Given the description of an element on the screen output the (x, y) to click on. 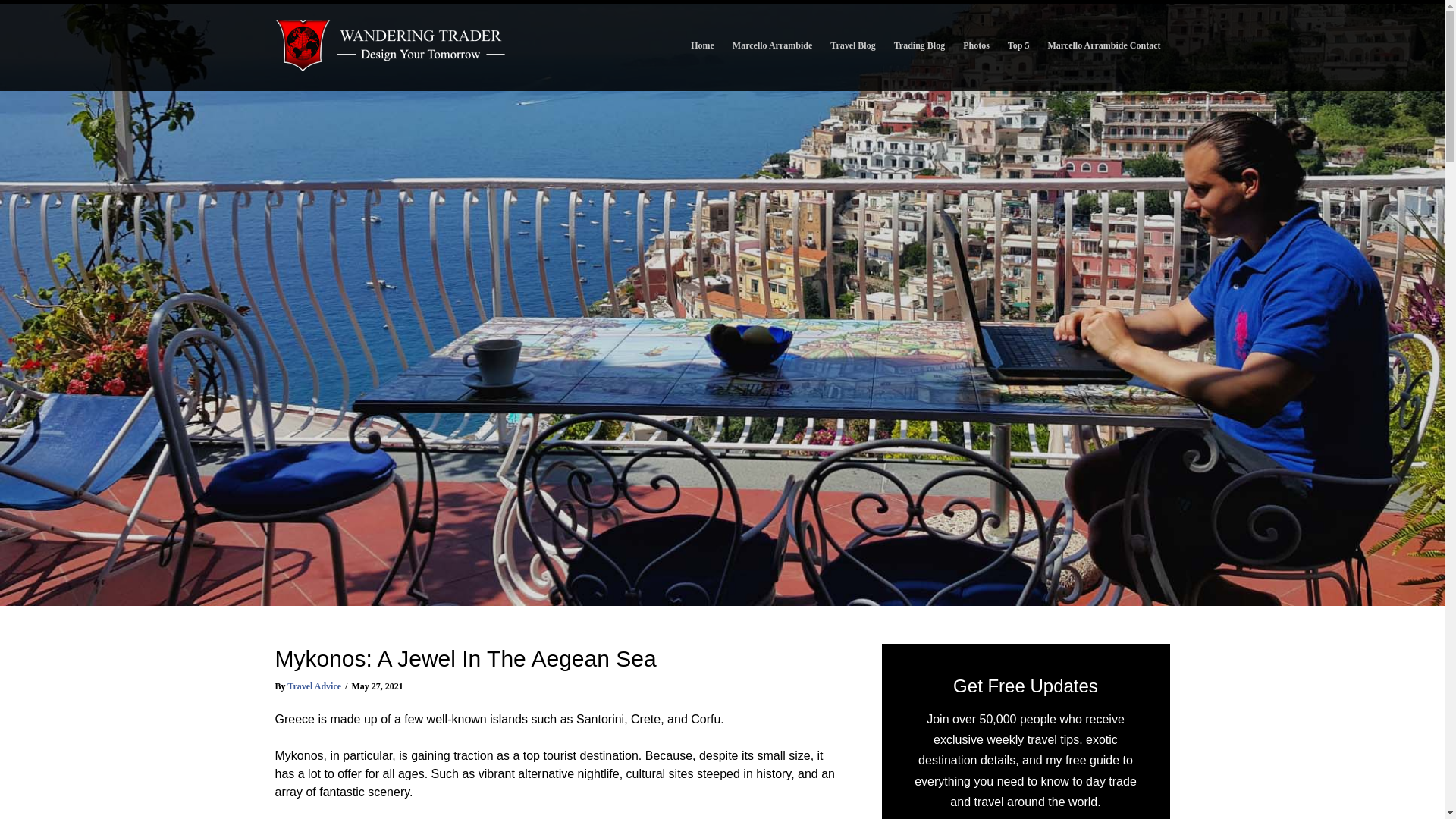
WanderingTrader (390, 45)
Home (702, 45)
View all posts by Travel Advice (313, 685)
Marcello Arrambide Contact (1103, 45)
Photos (975, 45)
Top 5 (1018, 45)
Day Trading Blog (919, 45)
Travel Blog (852, 45)
Trading Blog (919, 45)
Travel Advice (313, 685)
